Given the description of an element on the screen output the (x, y) to click on. 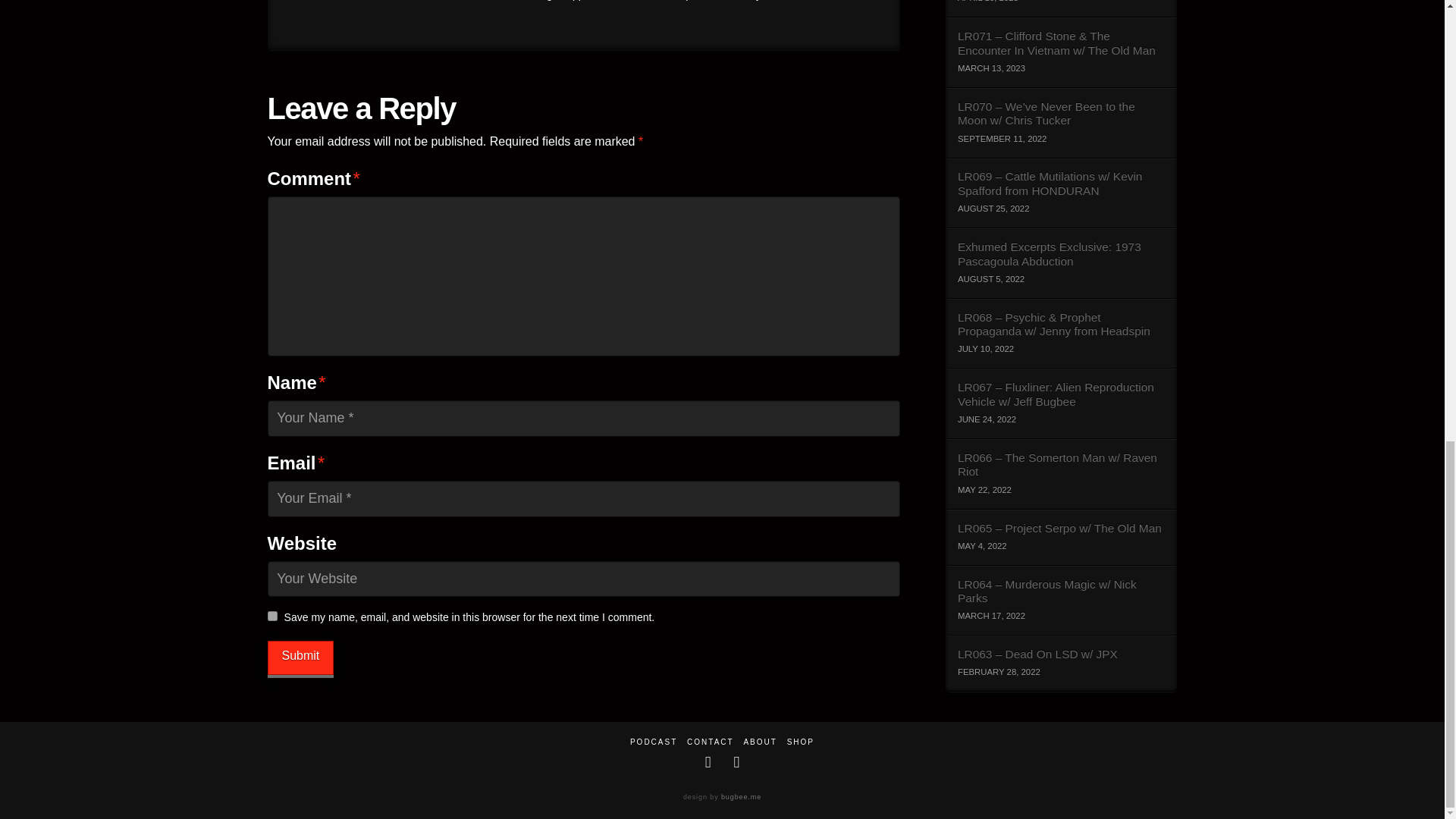
Submit (299, 657)
Submit (299, 657)
yes (271, 615)
